Given the description of an element on the screen output the (x, y) to click on. 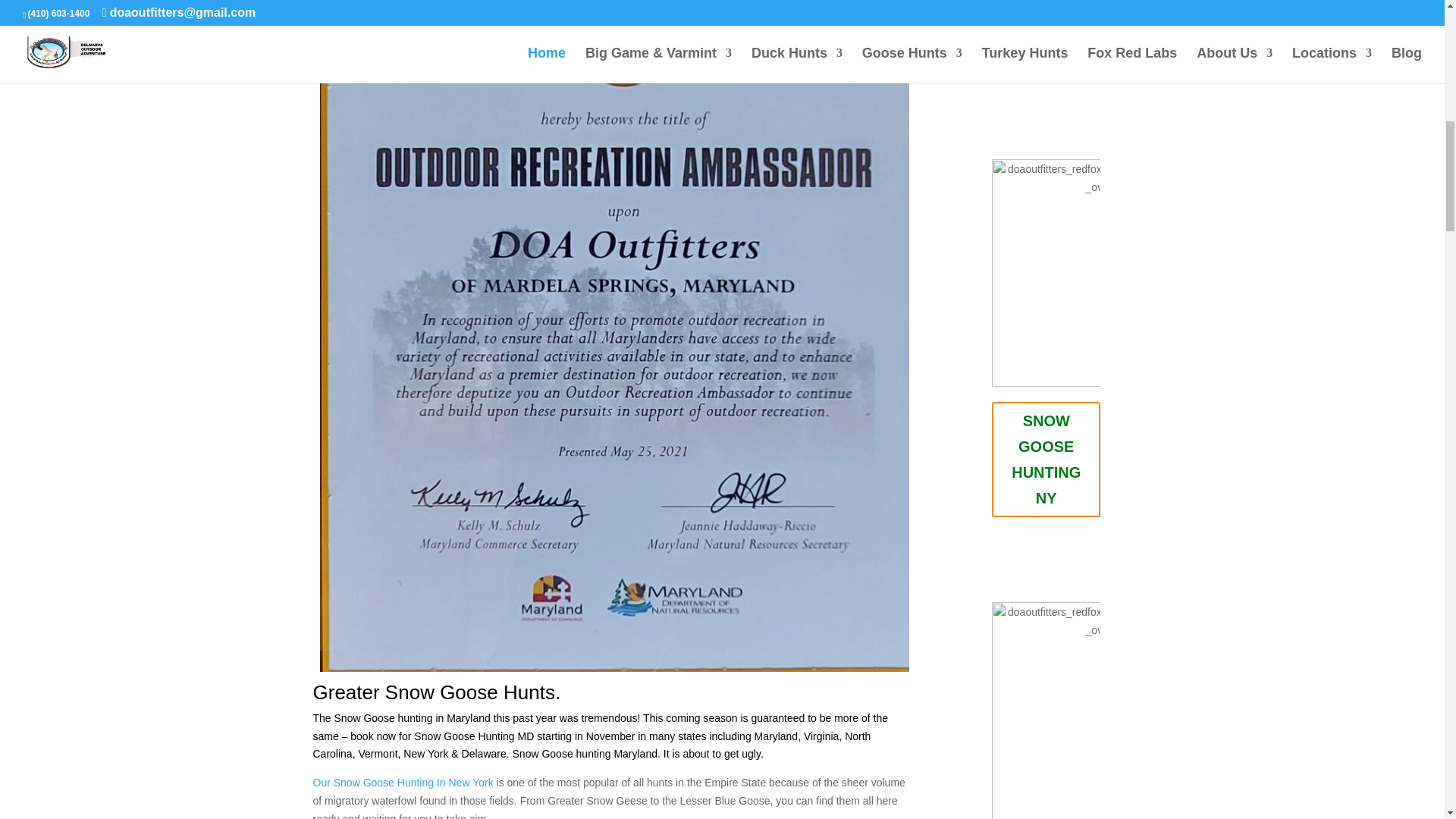
Greater Snow Goose Hunts. (436, 691)
Our Snow Goose Hunting In New York (403, 782)
